Given the description of an element on the screen output the (x, y) to click on. 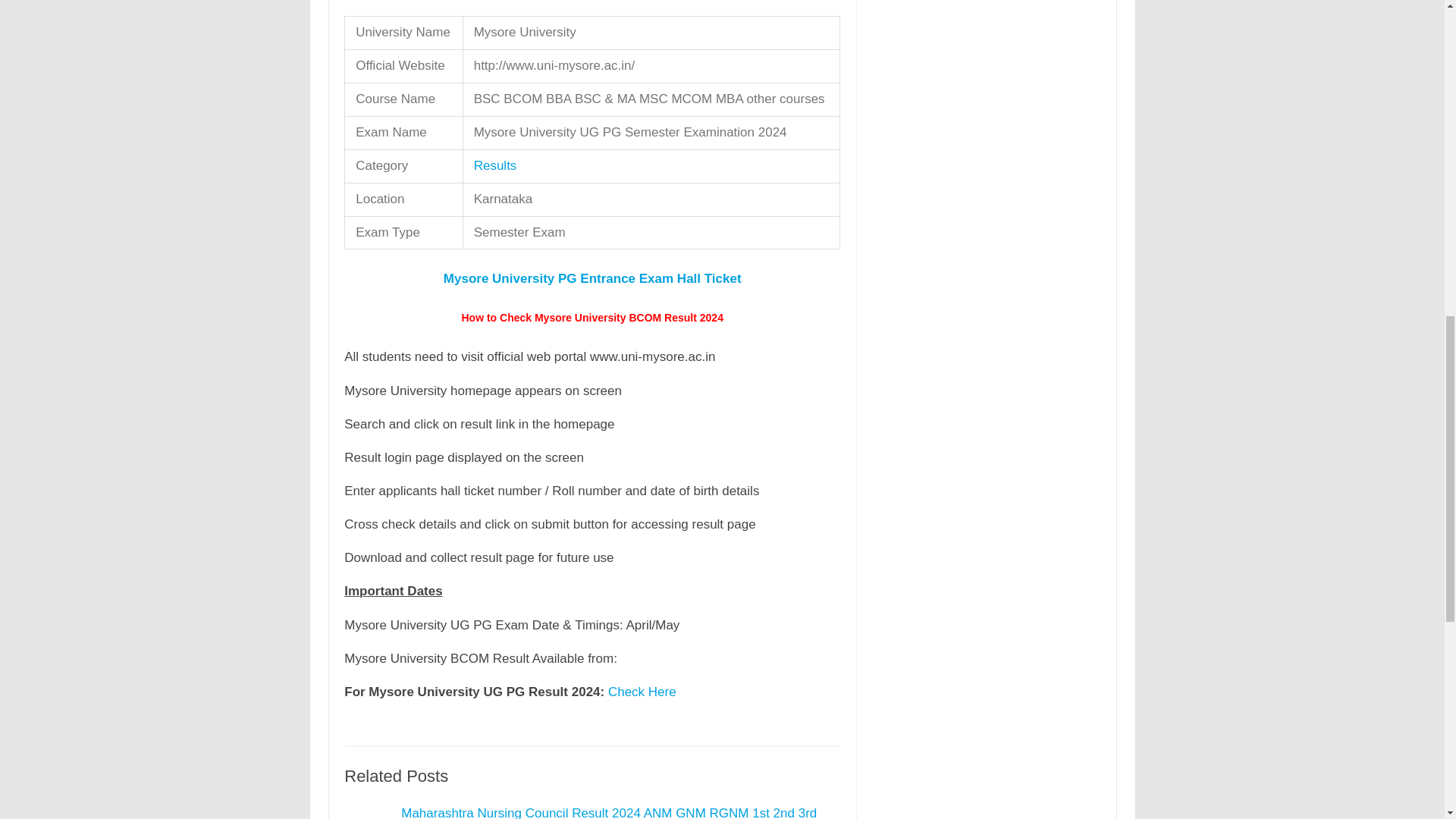
Mysore University PG Entrance Exam Hall Ticket (592, 278)
Results (495, 165)
Check Here (642, 691)
